Given the description of an element on the screen output the (x, y) to click on. 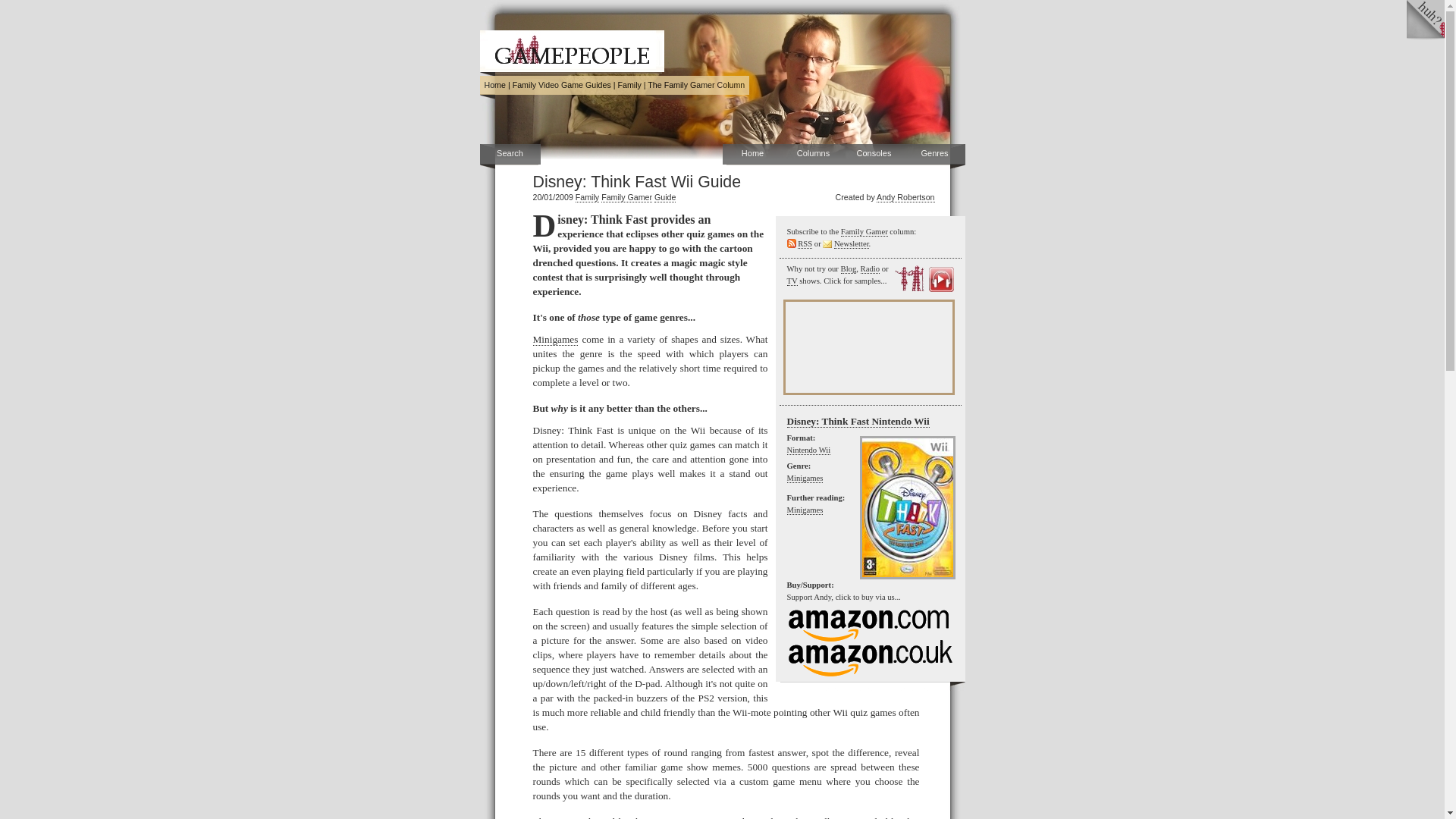
The Family Gamer Column (695, 84)
Guide (664, 197)
Family Gamer (626, 197)
Home (494, 84)
Family (586, 197)
Home (494, 84)
Family Video Game Guides (561, 84)
Group (628, 84)
Andy Robertson (905, 197)
Breadcrumb Trail (614, 85)
Search (509, 154)
Home (752, 154)
Columns (813, 154)
Column (695, 84)
Family (628, 84)
